Given the description of an element on the screen output the (x, y) to click on. 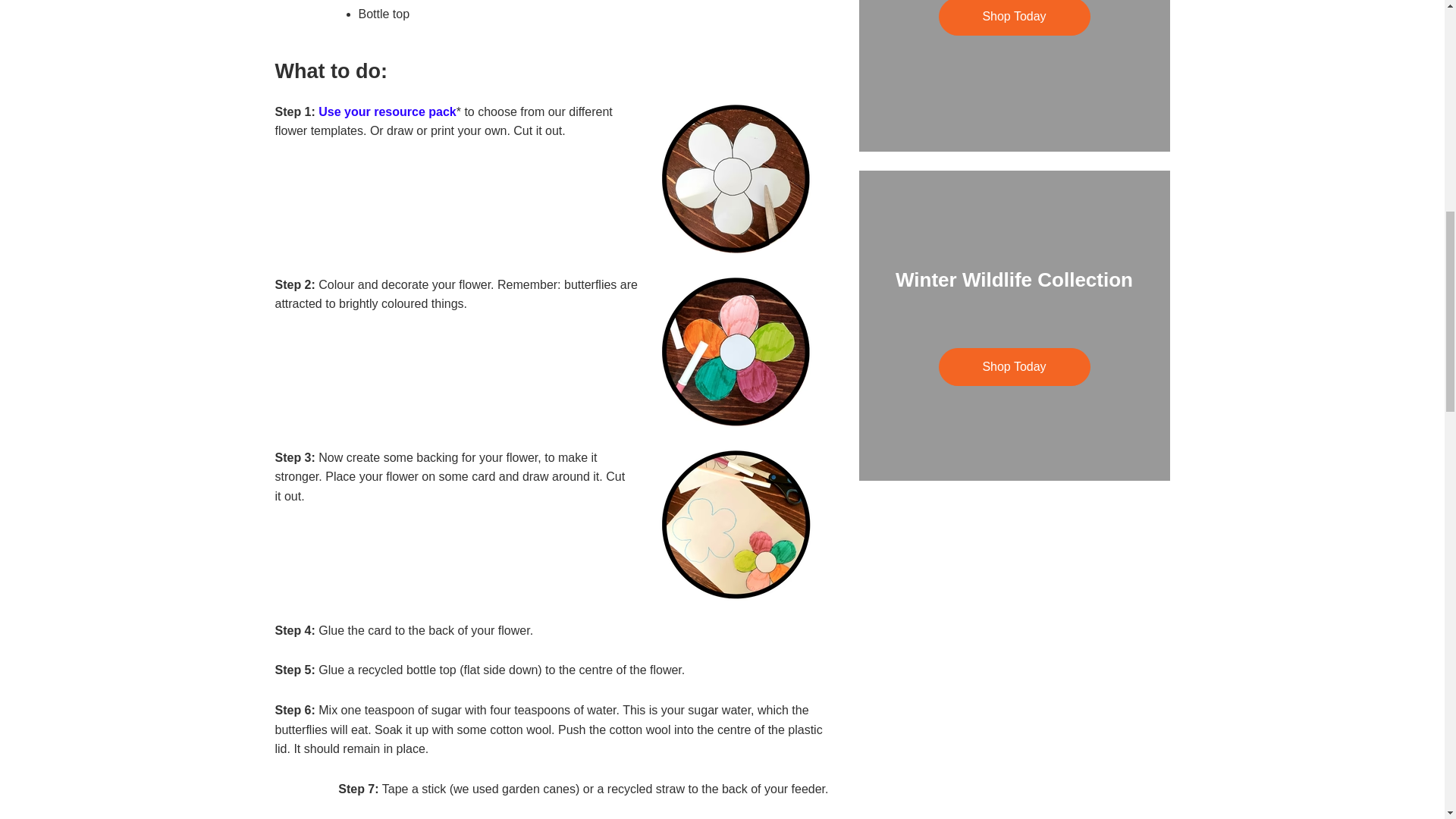
Resource Pack download (386, 111)
